Given the description of an element on the screen output the (x, y) to click on. 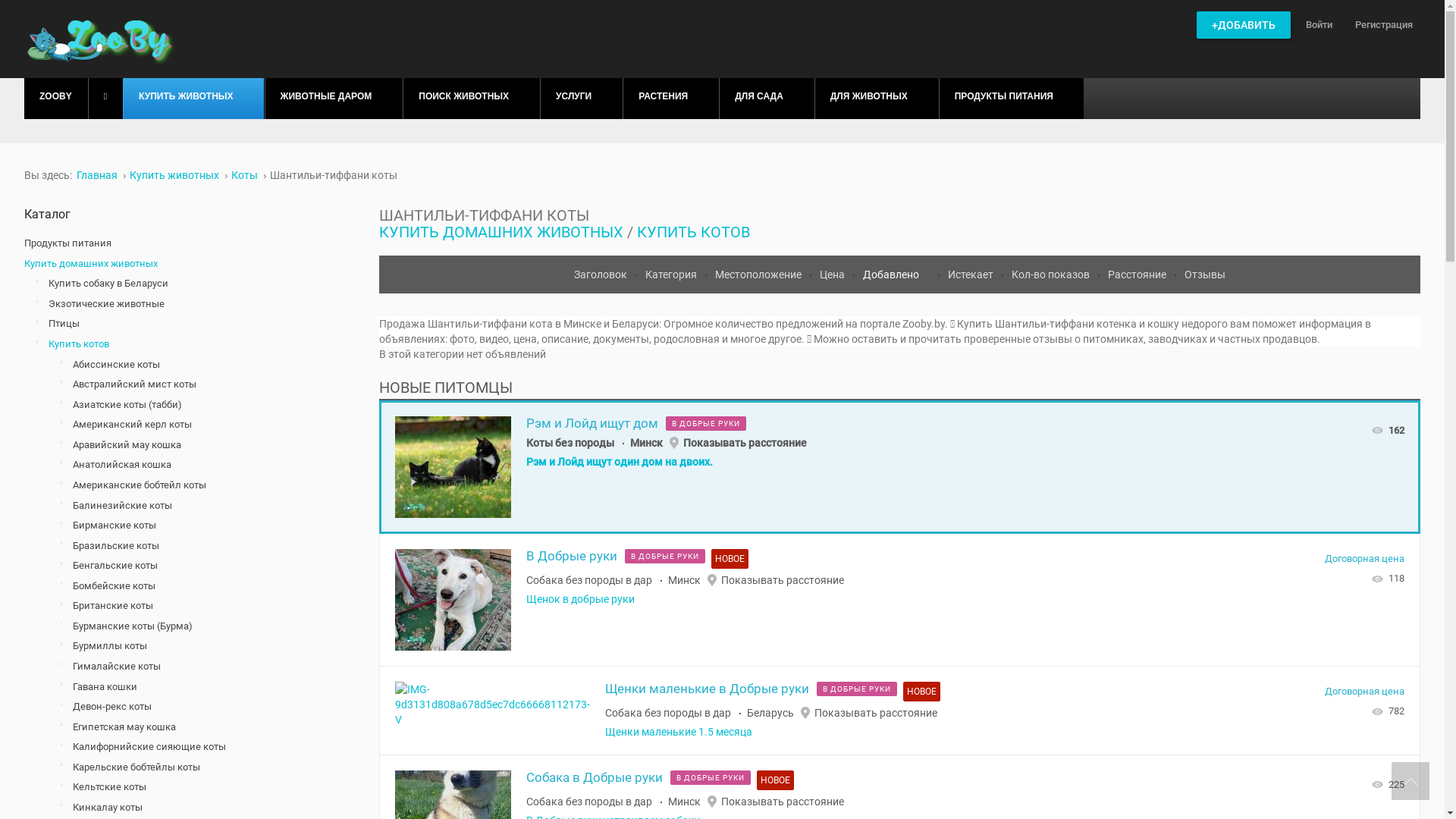
ZOOBY Element type: text (55, 96)
  Element type: text (1410, 781)
